Given the description of an element on the screen output the (x, y) to click on. 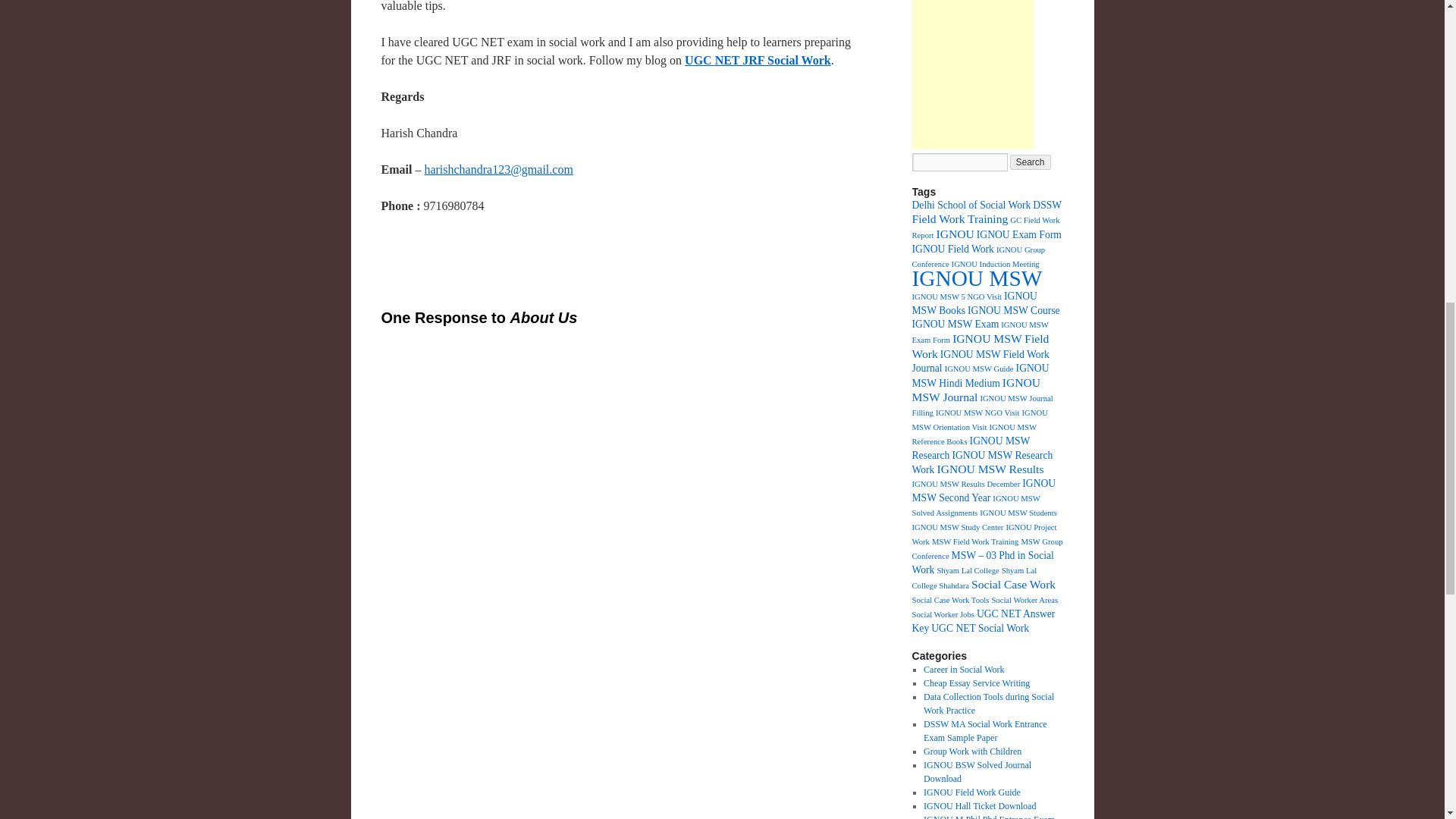
IGNOU MSW Orientation Visit (978, 419)
IGNOU MSW Research (970, 447)
IGNOU MSW (976, 278)
IGNOU MSW Journal Filling (981, 404)
IGNOU MSW Results December (965, 483)
IGNOU MSW Hindi Medium (979, 375)
IGNOU Induction Meeting (995, 264)
IGNOU MSW Books (973, 303)
Field Work Training (959, 218)
IGNOU MSW Guide (978, 368)
